Given the description of an element on the screen output the (x, y) to click on. 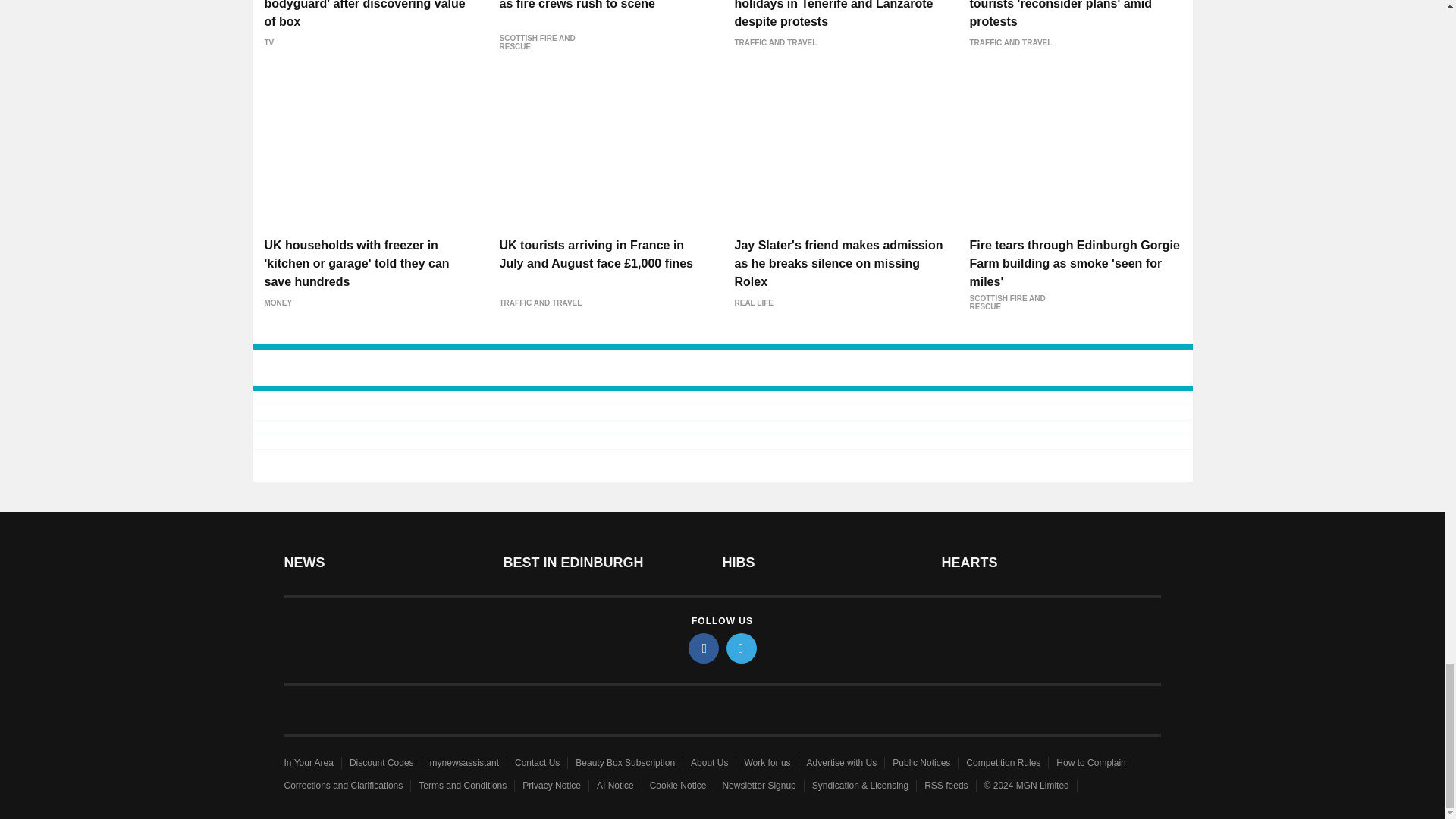
facebook (703, 648)
twitter (741, 648)
